Given the description of an element on the screen output the (x, y) to click on. 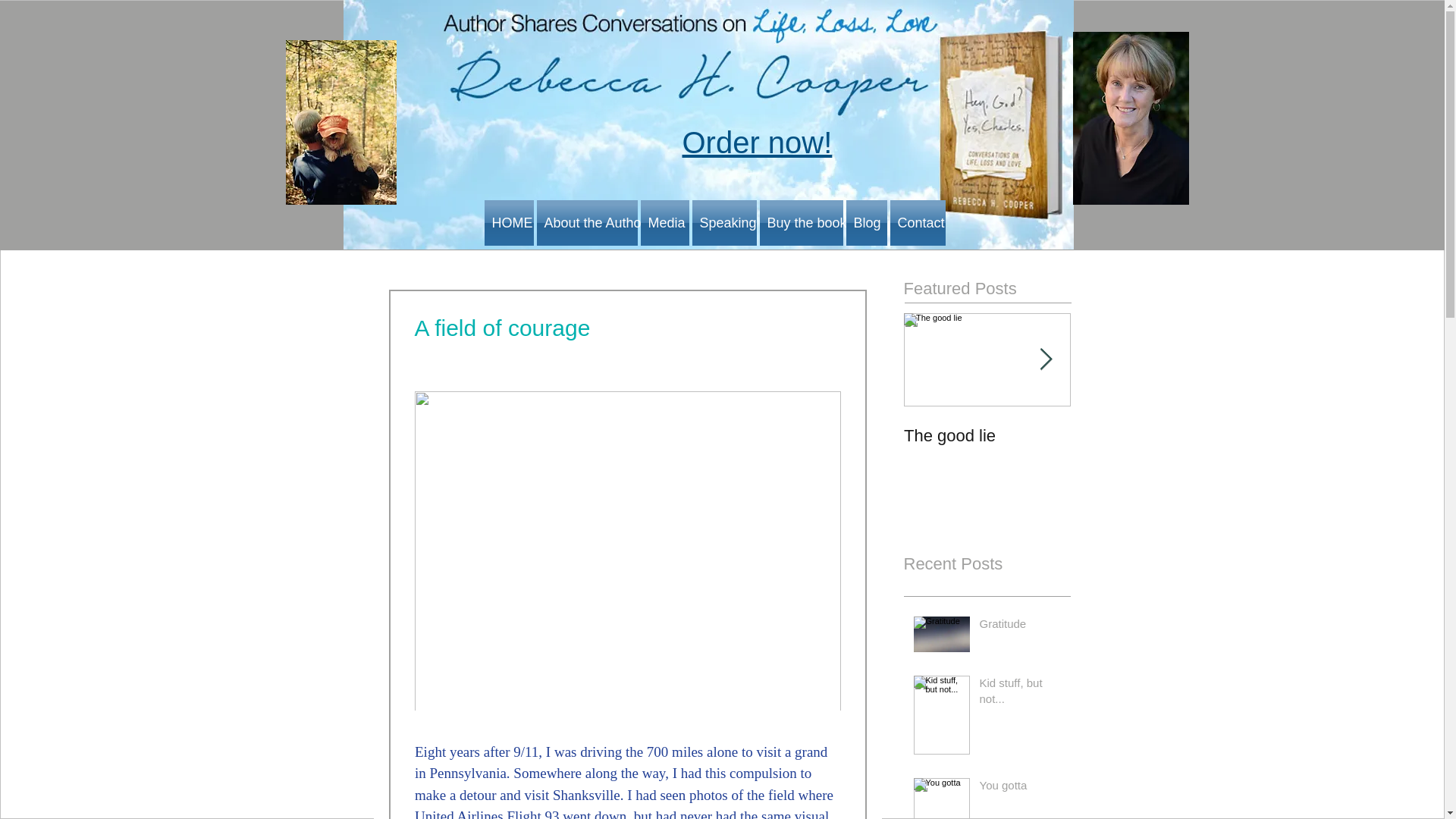
You gotta (1020, 788)
Media (660, 239)
Blog (857, 222)
The good lie (987, 435)
Media (658, 222)
Speaking (785, 239)
Contact (908, 222)
About the Author (581, 222)
Speaking (719, 222)
HOME (508, 222)
